Given the description of an element on the screen output the (x, y) to click on. 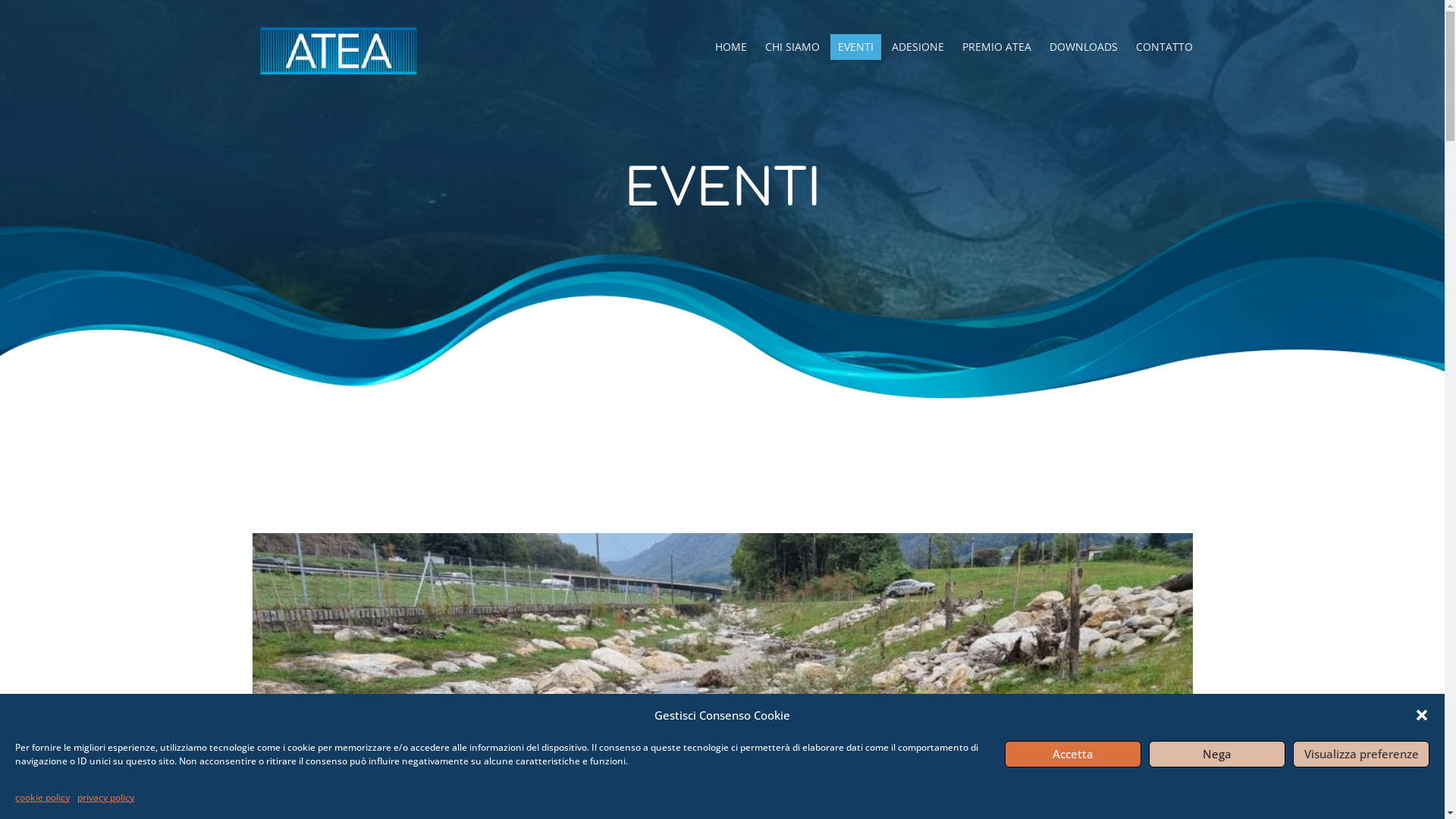
Nega Element type: text (1216, 753)
EVENTI Element type: text (854, 46)
privacy policy Element type: text (105, 797)
CHI SIAMO Element type: text (791, 46)
DOWNLOADS Element type: text (1083, 46)
ADESIONE Element type: text (917, 46)
Accetta Element type: text (1072, 753)
CONTATTO Element type: text (1163, 46)
cookie policy Element type: text (42, 797)
HOME Element type: text (730, 46)
PREMIO ATEA Element type: text (995, 46)
Visualizza preferenze Element type: text (1360, 753)
